Given the description of an element on the screen output the (x, y) to click on. 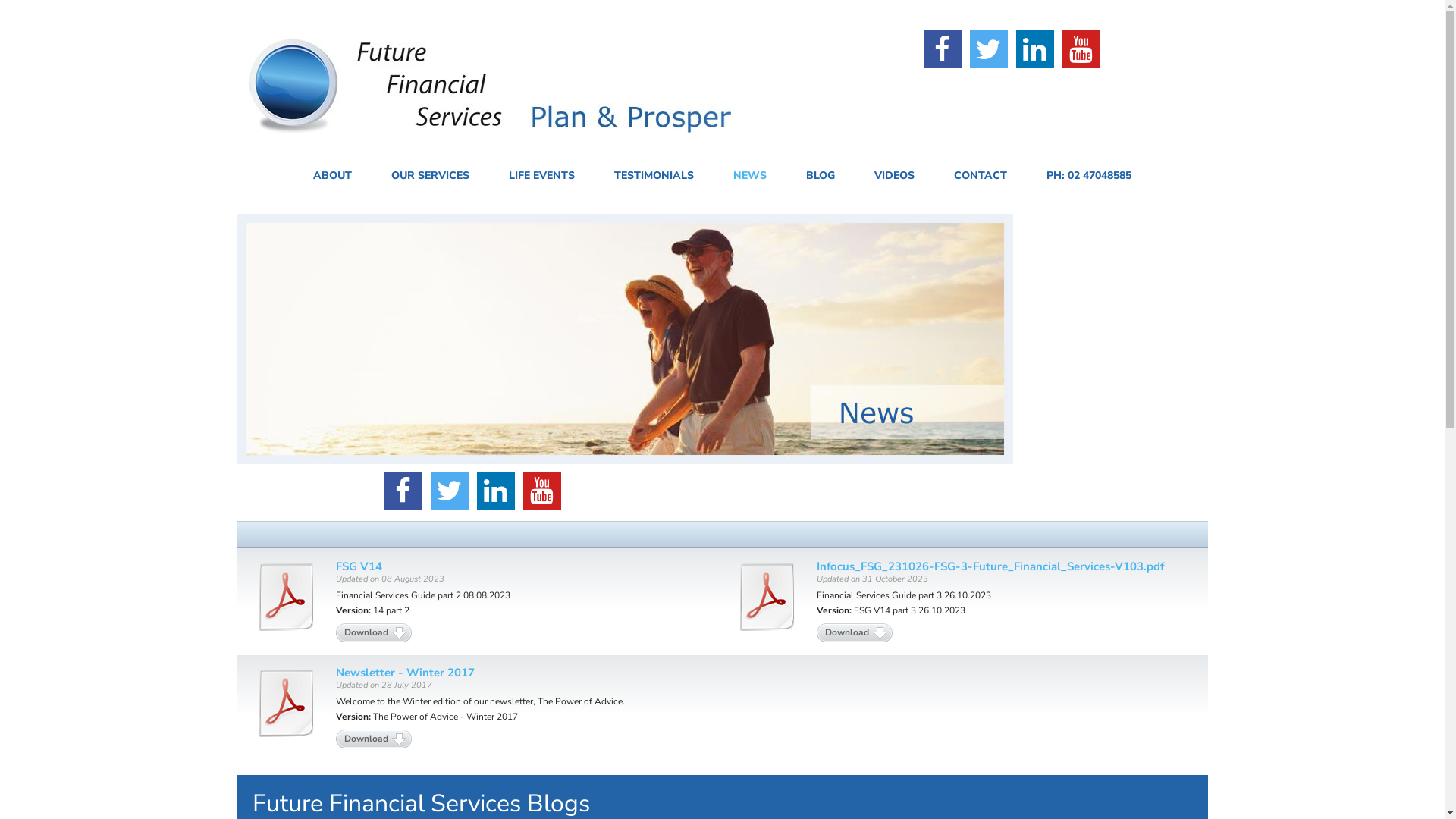
FACEBOOK Element type: hover (942, 49)
Download Element type: text (373, 632)
PH: 02 47048585 Element type: text (1088, 176)
Newsletter - Winter 2017 Element type: text (404, 672)
TWITTER Element type: hover (988, 49)
LIFE EVENTS Element type: text (541, 176)
YOUTUBE Element type: hover (1081, 49)
TWITTER Element type: hover (449, 490)
Download Element type: text (373, 738)
CONTACT Element type: text (980, 176)
ABOUT Element type: text (332, 176)
Download Element type: text (854, 632)
YOUTUBE Element type: hover (542, 490)
FACEBOOK Element type: hover (403, 490)
OUR SERVICES Element type: text (430, 176)
FSG V14 Element type: text (358, 566)
TESTIMONIALS Element type: text (653, 176)
VIDEOS Element type: text (894, 176)
LINKEDIN Element type: hover (1035, 49)
LINKEDIN Element type: hover (495, 490)
BLOG Element type: text (820, 176)
Infocus_FSG_231026-FSG-3-Future_Financial_Services-V103.pdf Element type: text (990, 566)
NEWS Element type: text (749, 176)
